Given the description of an element on the screen output the (x, y) to click on. 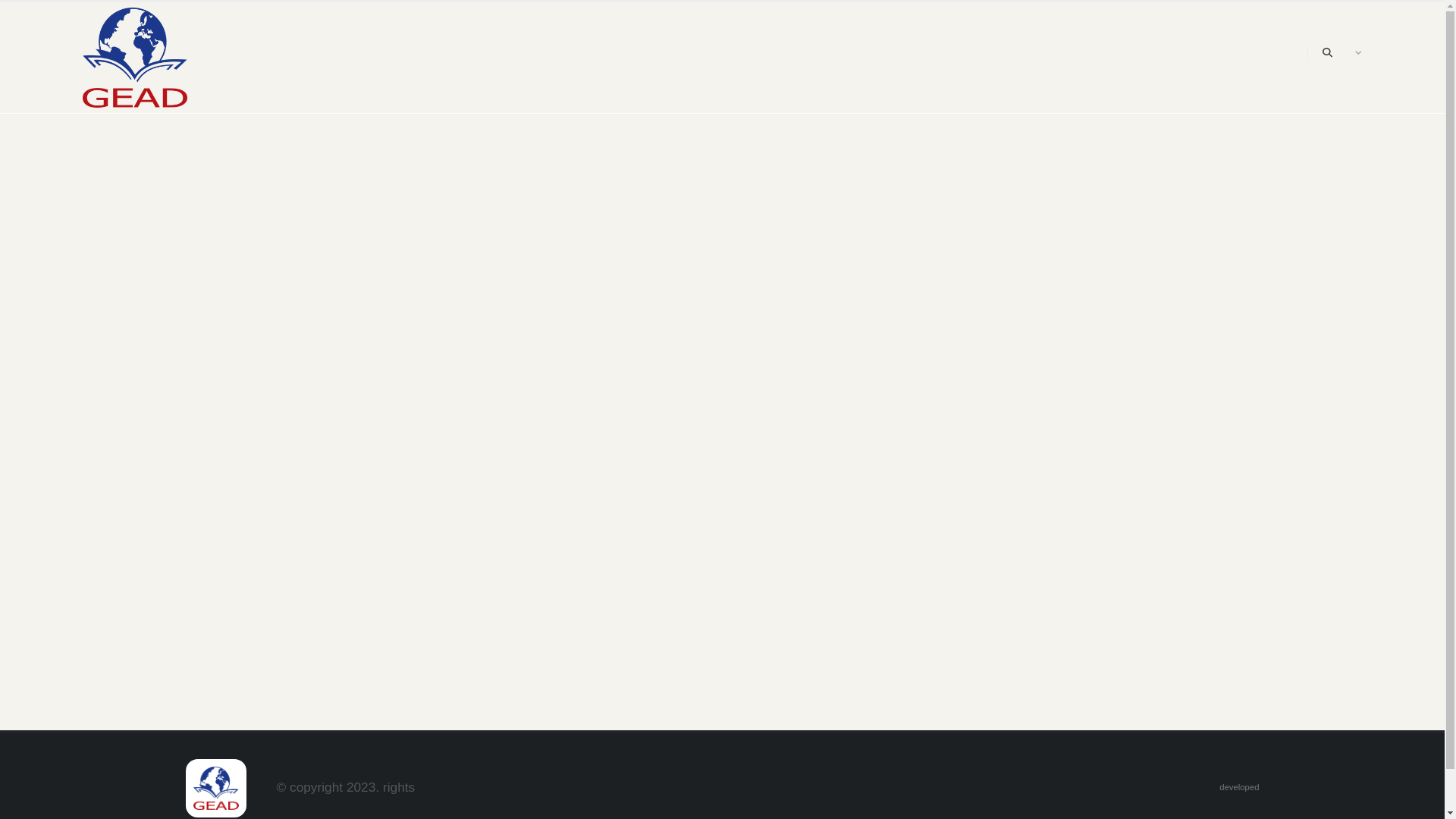
developed Element type: text (1238, 786)
